Given the description of an element on the screen output the (x, y) to click on. 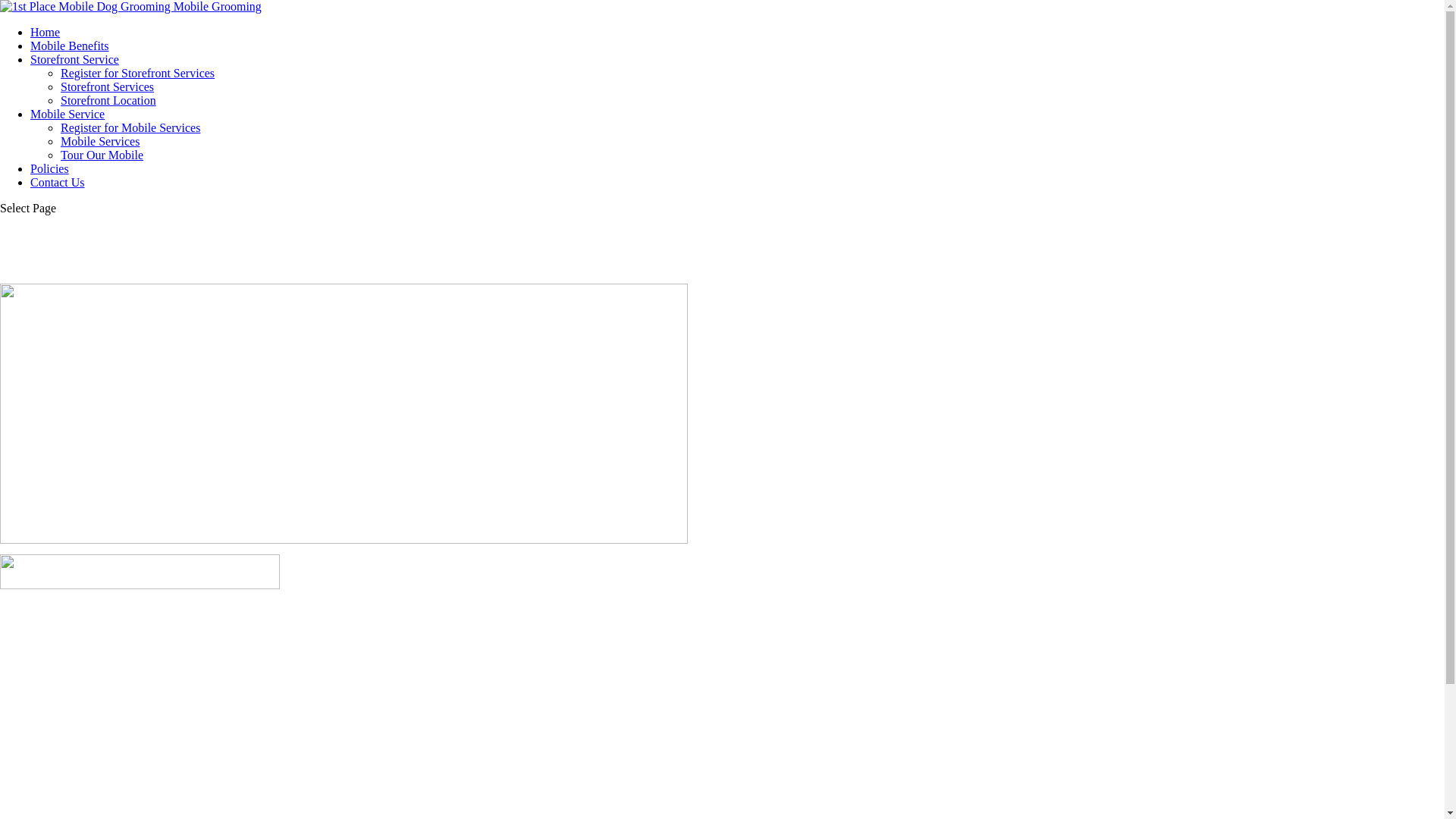
Tour Our Mobile Element type: text (101, 154)
Mobile Service Element type: text (67, 113)
Home Element type: text (44, 31)
Storefront Services Element type: text (106, 86)
Mobile Benefits Element type: text (69, 45)
470-452-9484 Element type: hover (139, 571)
Storefront Service Element type: text (74, 59)
Register for Storefront Services Element type: text (137, 72)
Storefront Location Element type: text (108, 100)
Mobile Services Element type: text (99, 140)
Contact Us Element type: text (57, 181)
Register for Mobile Services Element type: text (130, 127)
Policies Element type: text (49, 168)
